Given the description of an element on the screen output the (x, y) to click on. 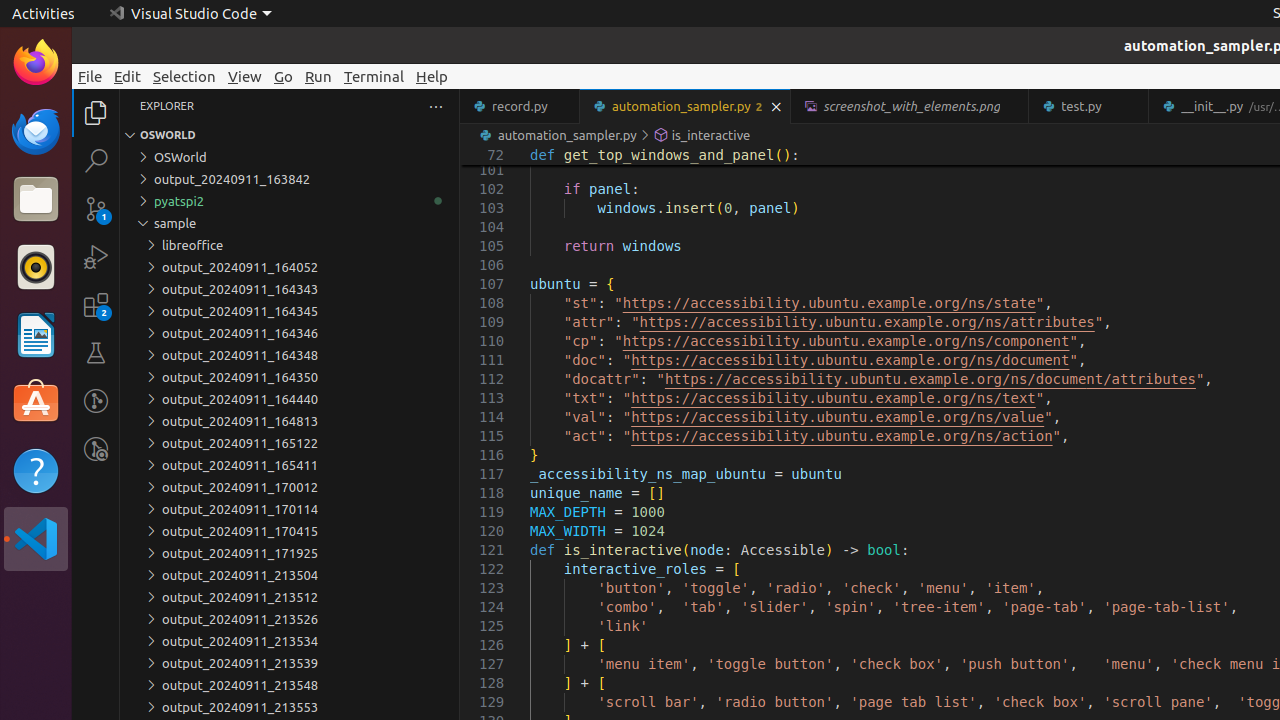
output_20240911_165411 Element type: tree-item (289, 465)
Explorer Section: osworld Element type: push-button (289, 135)
Edit Element type: push-button (127, 76)
OSWorld Element type: tree-item (289, 157)
